Given the description of an element on the screen output the (x, y) to click on. 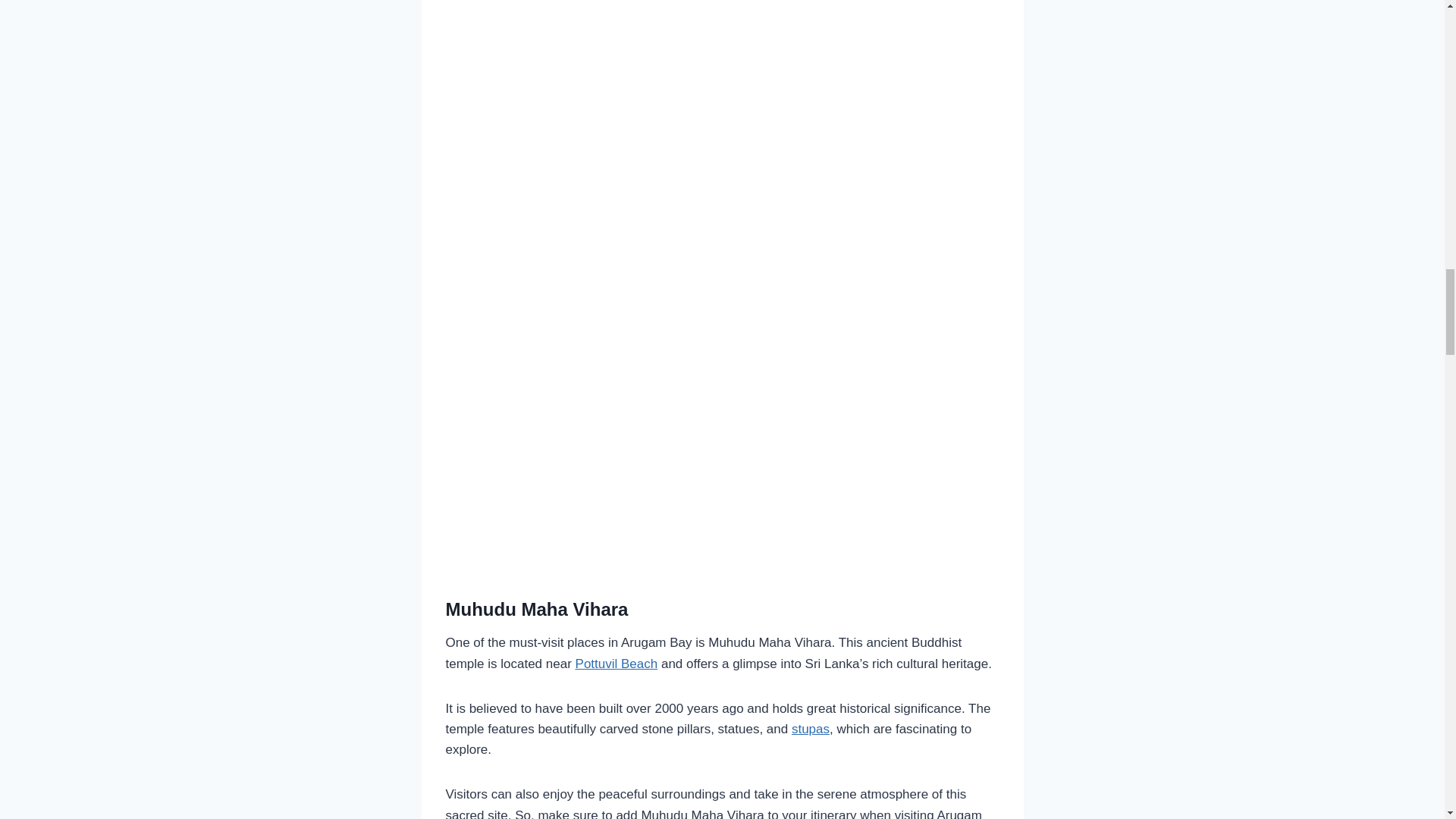
Pottuvil Beach (616, 663)
stupas (810, 728)
